Given the description of an element on the screen output the (x, y) to click on. 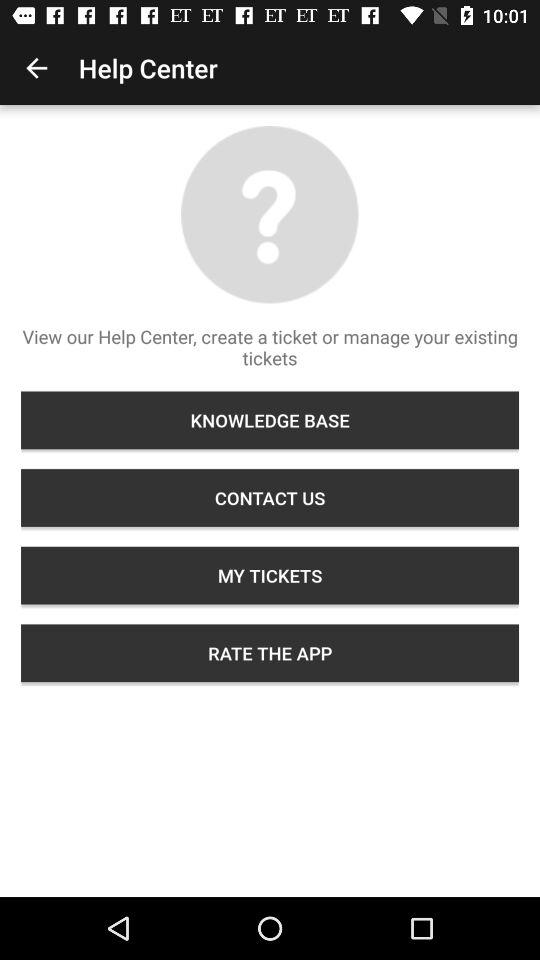
choose the icon below the knowledge base icon (270, 497)
